Given the description of an element on the screen output the (x, y) to click on. 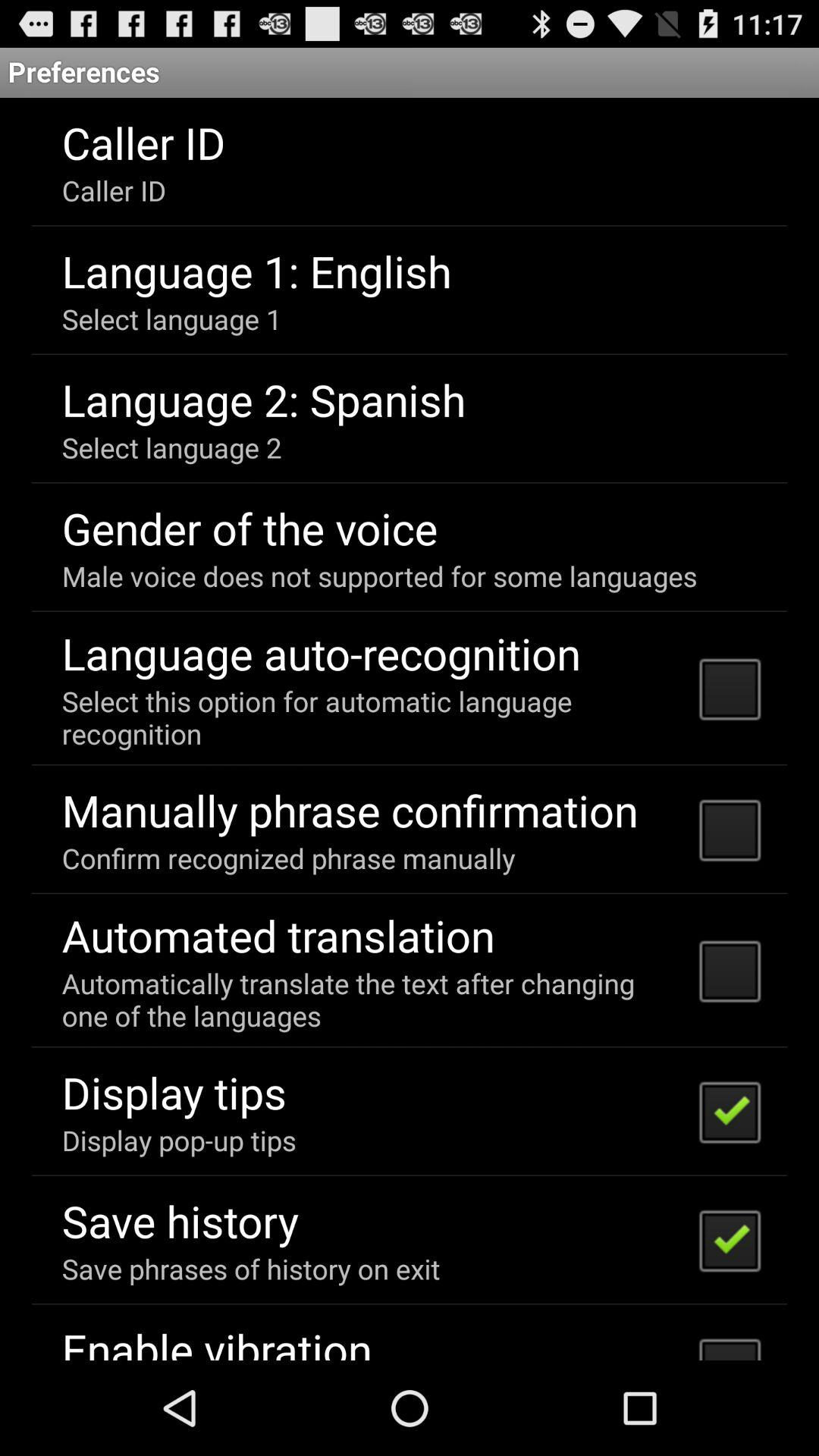
open automated translation (277, 935)
